Given the description of an element on the screen output the (x, y) to click on. 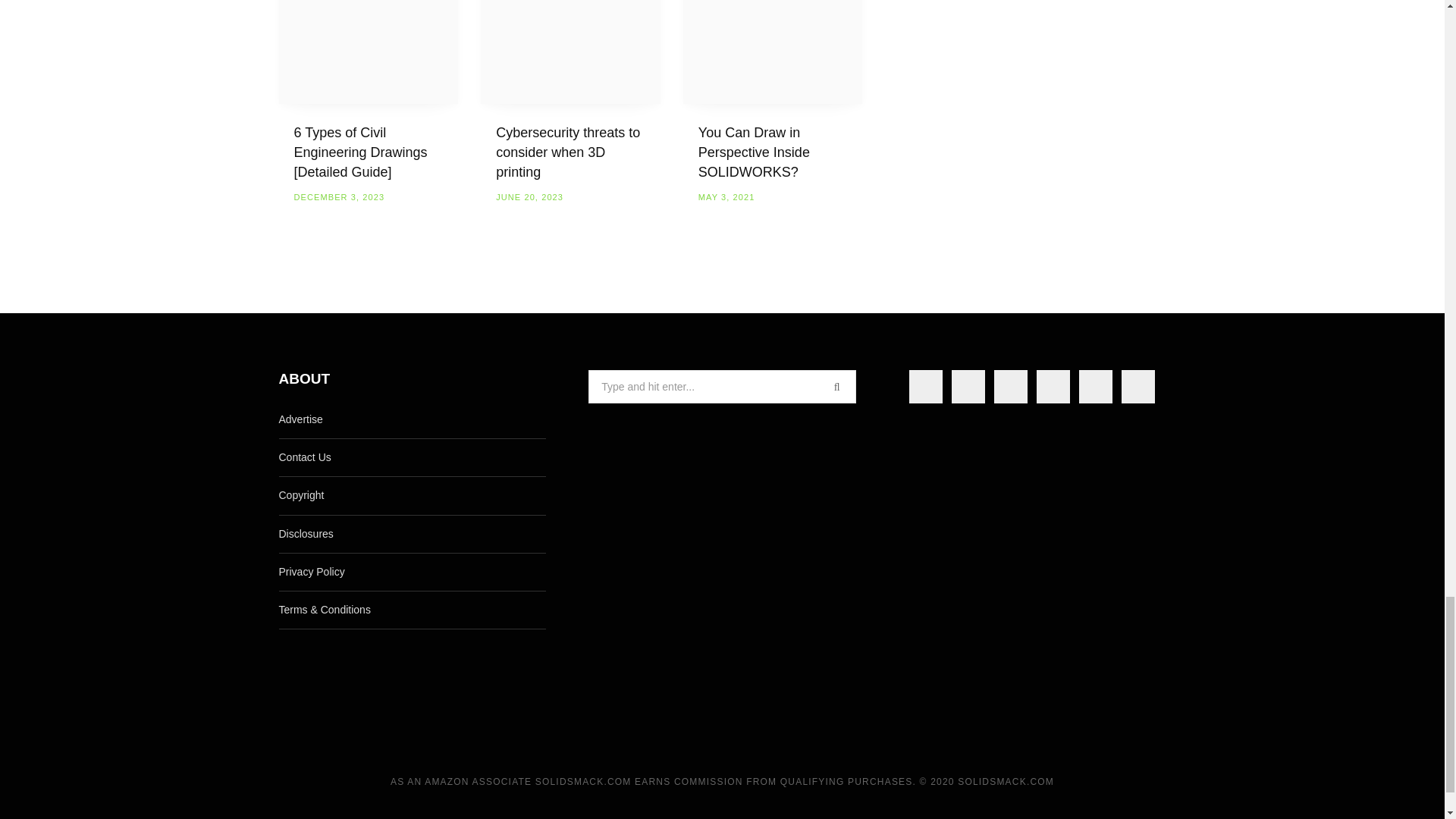
Cybersecurity threats to consider when 3D printing (570, 52)
Search for: (722, 386)
You Can Draw in Perspective Inside SOLIDWORKS? (772, 52)
